Given the description of an element on the screen output the (x, y) to click on. 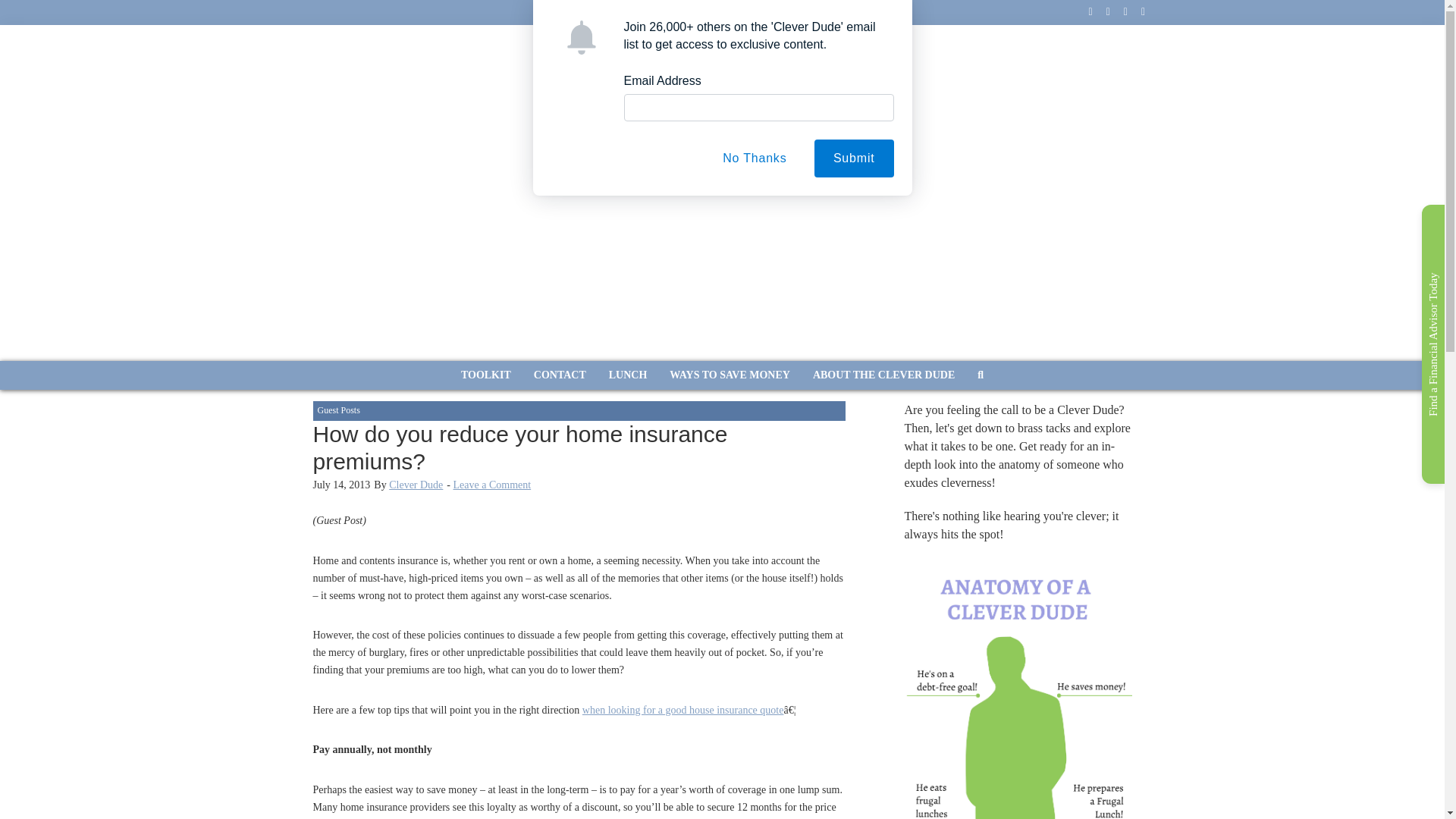
WAYS TO SAVE MONEY (730, 375)
LUNCH (627, 375)
when looking for a good house insurance quote (683, 709)
No Thanks (754, 158)
Email Address (661, 80)
Leave a Comment (491, 484)
CONTACT (559, 375)
Clever Dude (415, 484)
TOOLKIT (485, 375)
ABOUT THE CLEVER DUDE (884, 375)
Submit (853, 158)
Guest Posts (338, 409)
